Given the description of an element on the screen output the (x, y) to click on. 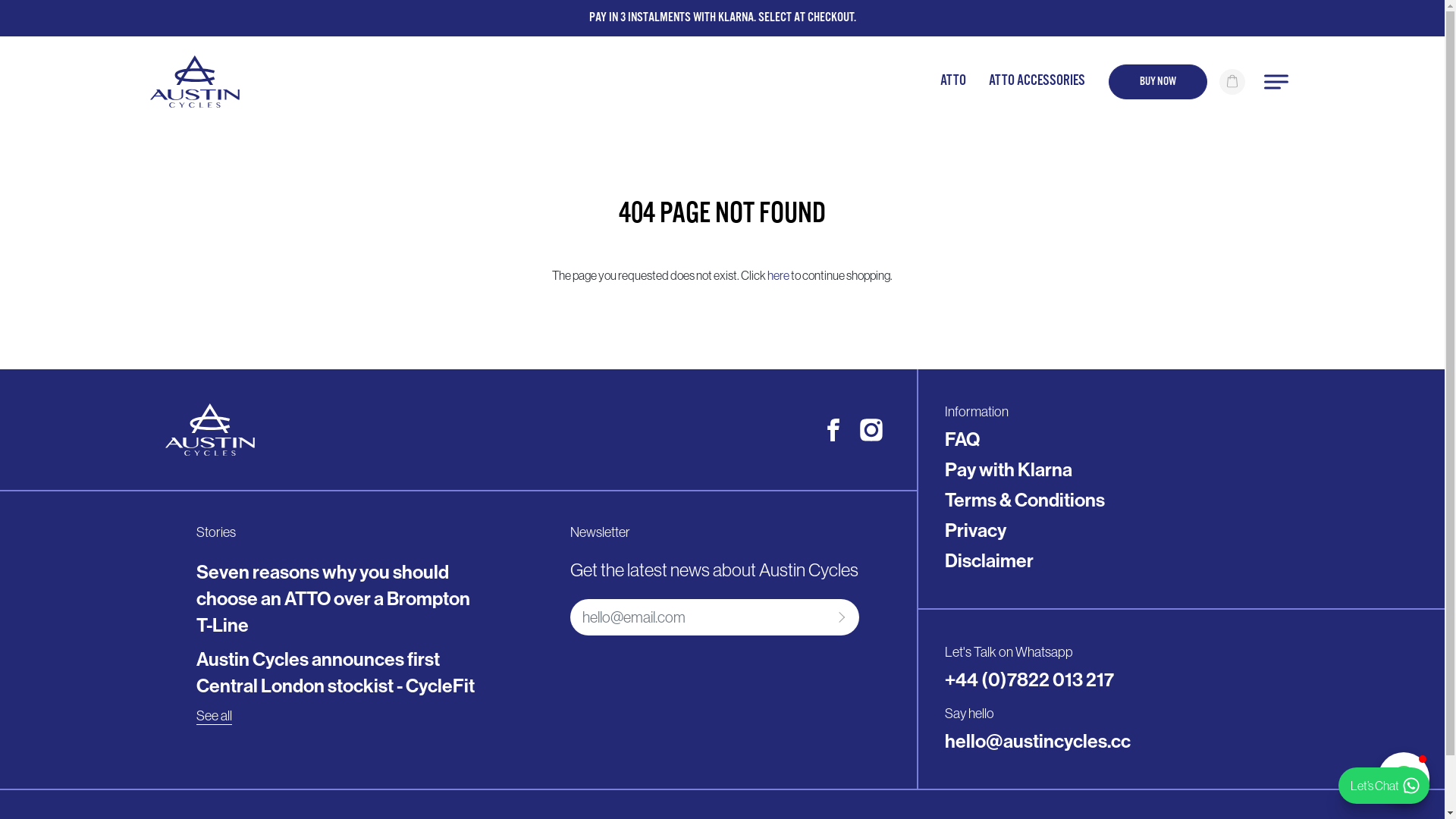
Submit Element type: text (839, 617)
FAQ Element type: text (961, 438)
Pay with Klarna Element type: text (1008, 469)
Facebook Element type: text (833, 429)
here Element type: text (778, 275)
+44 (0)7822 013 217 Element type: text (1028, 679)
Instagram Element type: text (871, 429)
Privacy Element type: text (975, 529)
Terms & Conditions Element type: text (1024, 499)
BUY NOW Element type: text (1157, 80)
ATTO Element type: text (953, 81)
PAY IN 3 INSTALMENTS WITH KLARNA. SELECT AT CHECKOUT. Element type: text (721, 17)
See all Element type: text (214, 715)
Disclaimer Element type: text (988, 560)
ATTO ACCESSORIES Element type: text (1036, 81)
hello@austincycles.cc Element type: text (1037, 740)
